Given the description of an element on the screen output the (x, y) to click on. 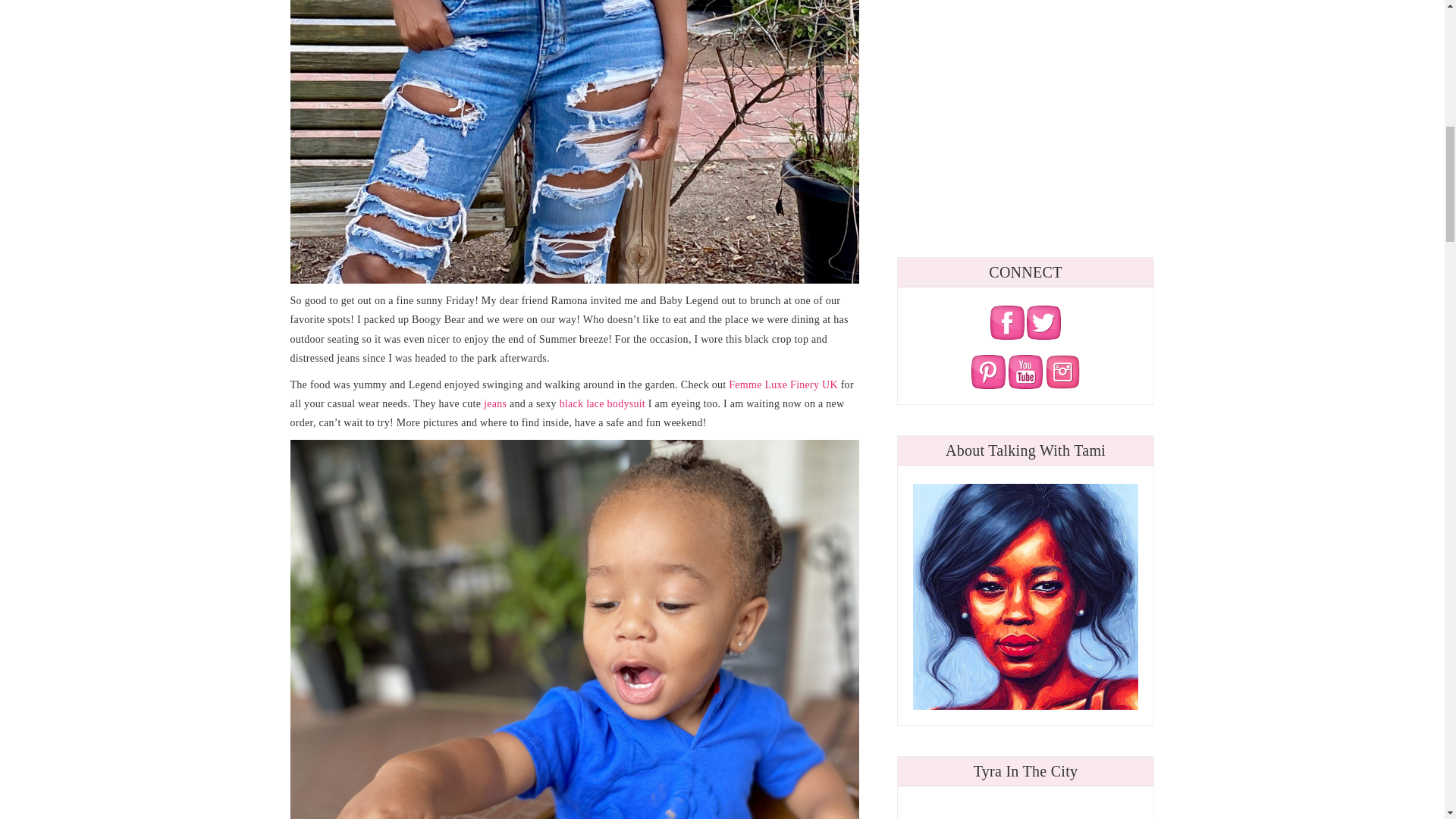
About Talking With Tami (1025, 597)
Femme Luxe Finery UK (783, 384)
jeans (493, 403)
black lace bodysuit (602, 403)
